Given the description of an element on the screen output the (x, y) to click on. 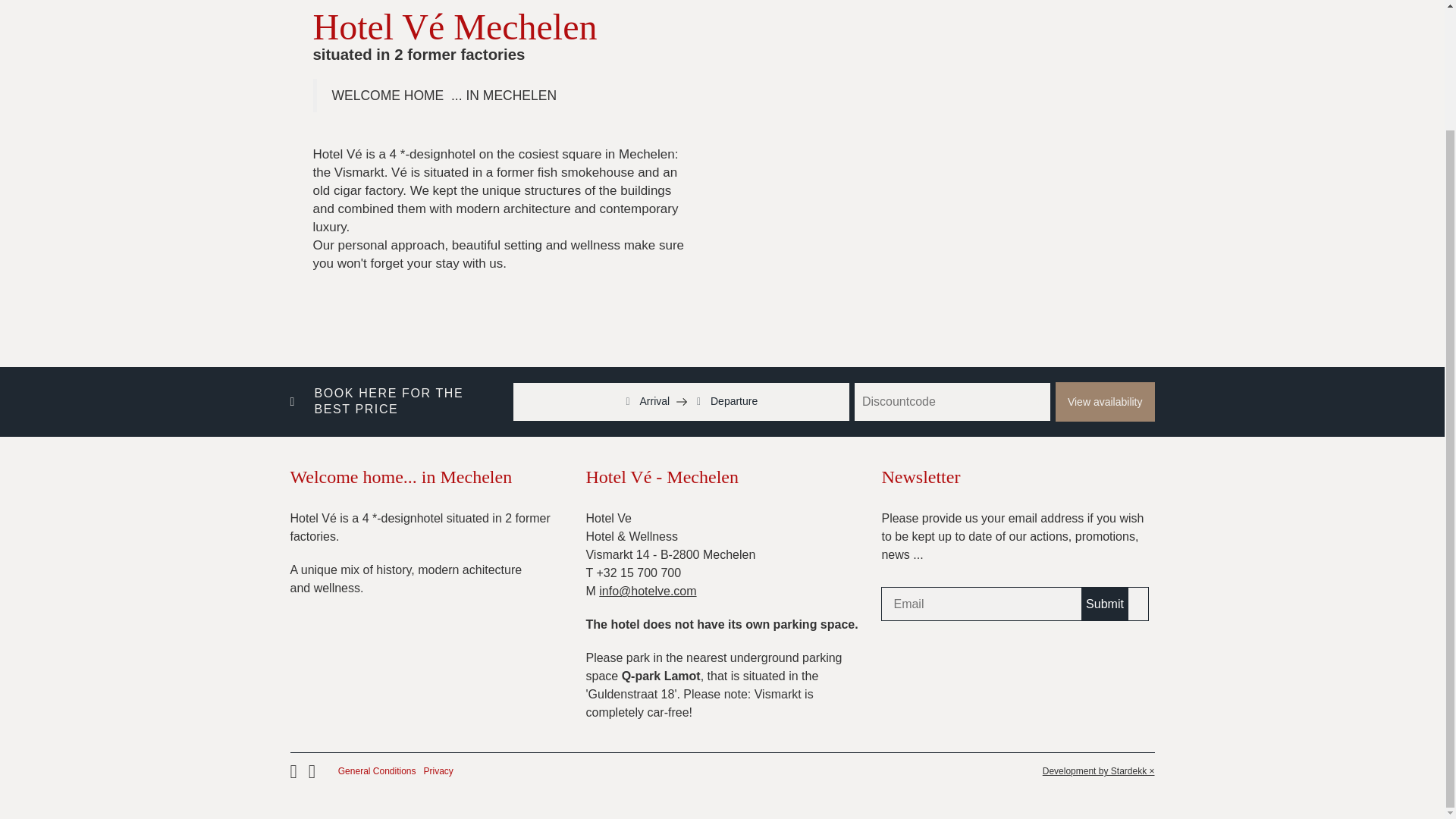
General Conditions (376, 771)
Privacy (437, 771)
Submit (1104, 603)
View availability (1104, 401)
